Given the description of an element on the screen output the (x, y) to click on. 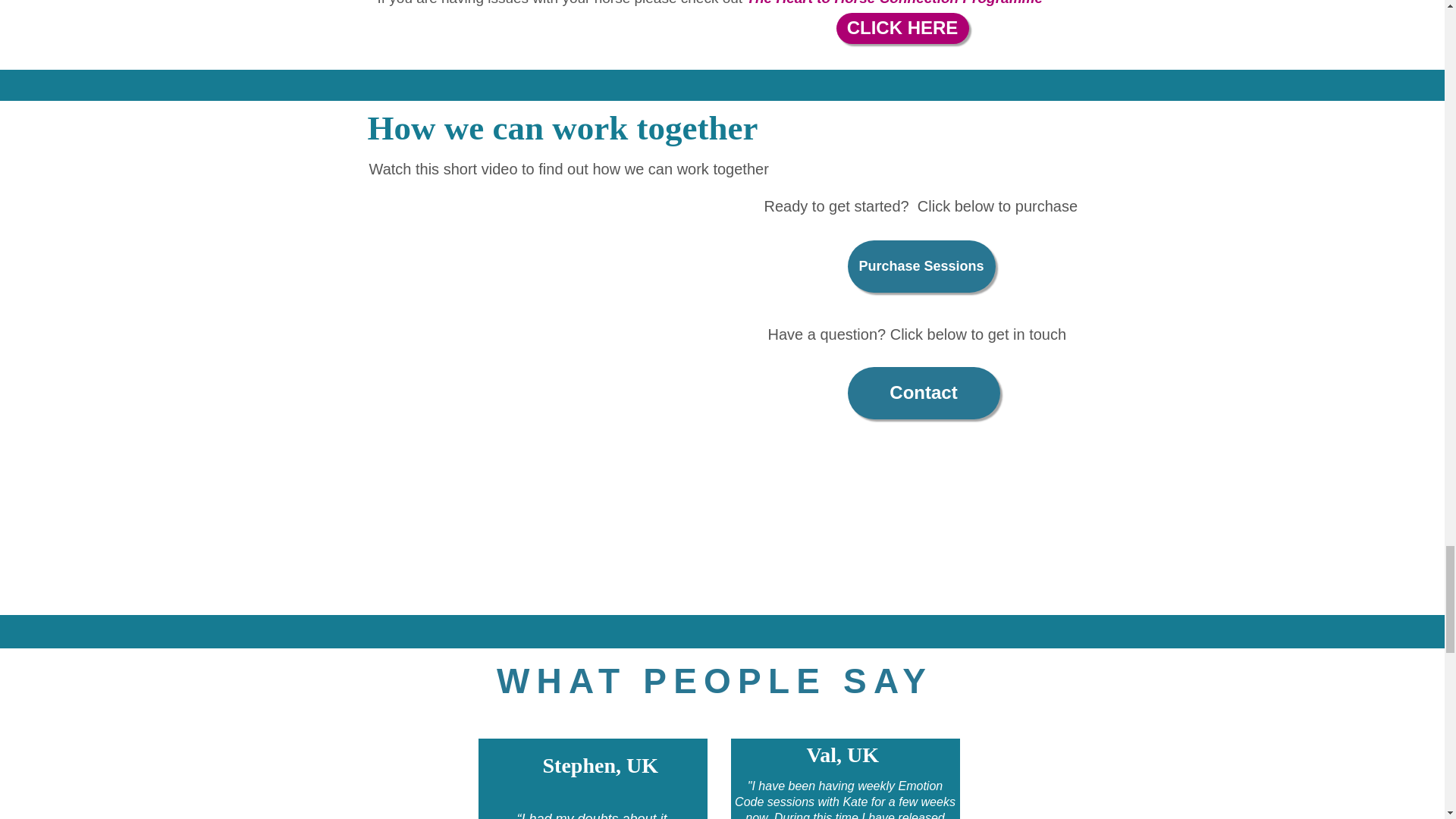
Contact (923, 392)
Purchase Sessions (921, 266)
CLICK HERE (901, 28)
